Given the description of an element on the screen output the (x, y) to click on. 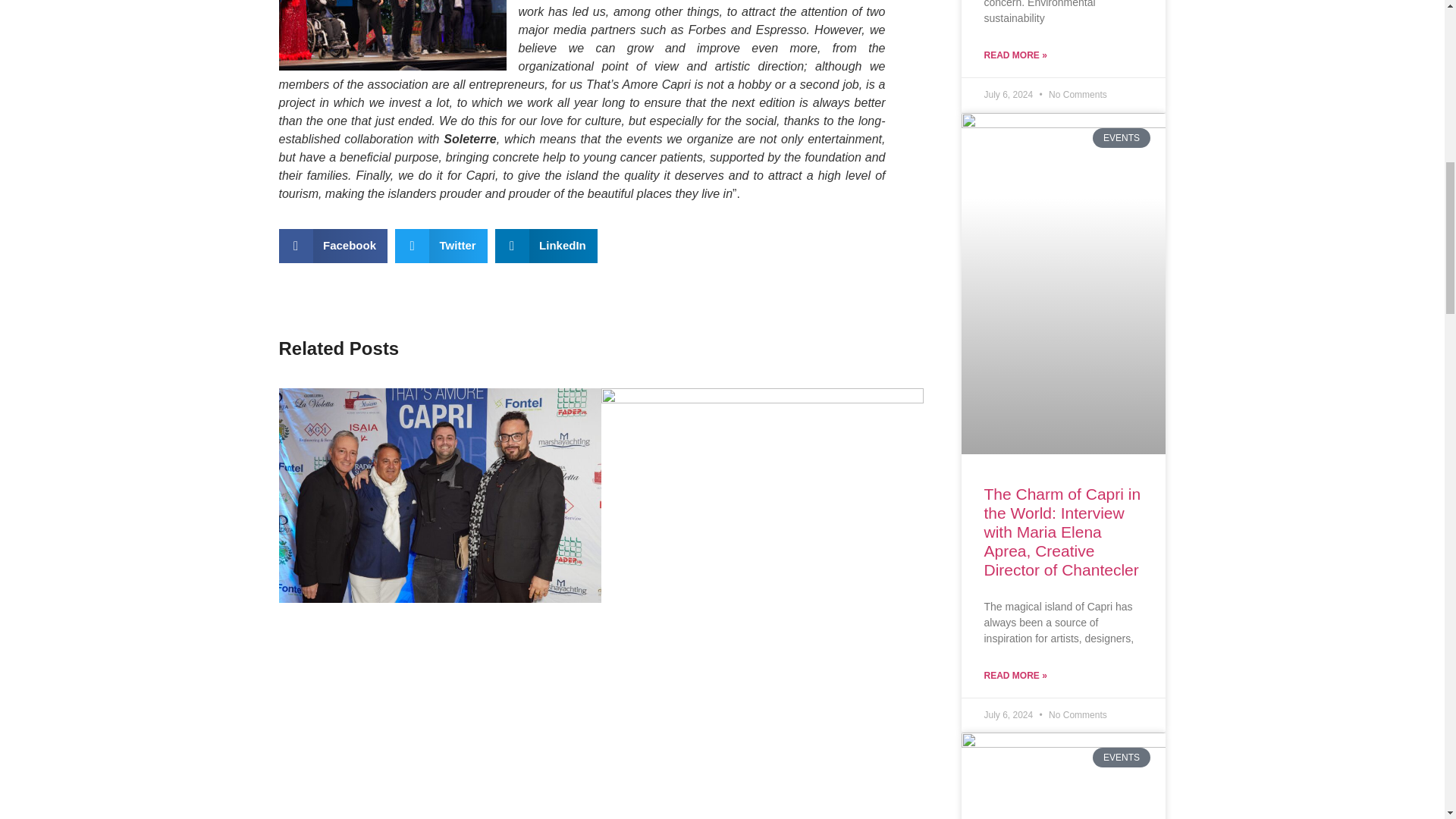
Related Posts (601, 348)
